Given the description of an element on the screen output the (x, y) to click on. 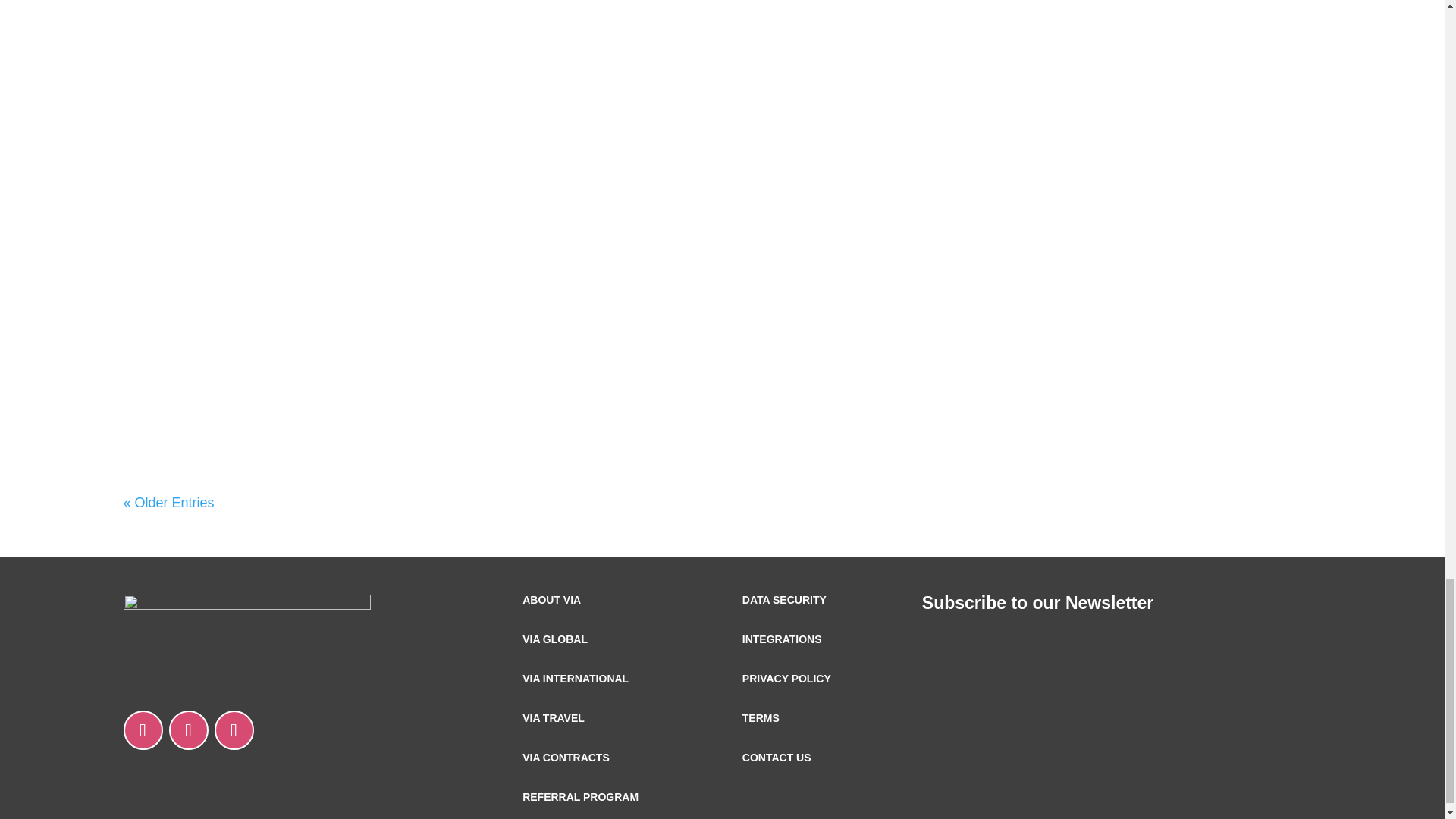
Follow on LinkedIn (141, 730)
Follow on Instagram (188, 730)
Follow on Facebook (233, 730)
